Given the description of an element on the screen output the (x, y) to click on. 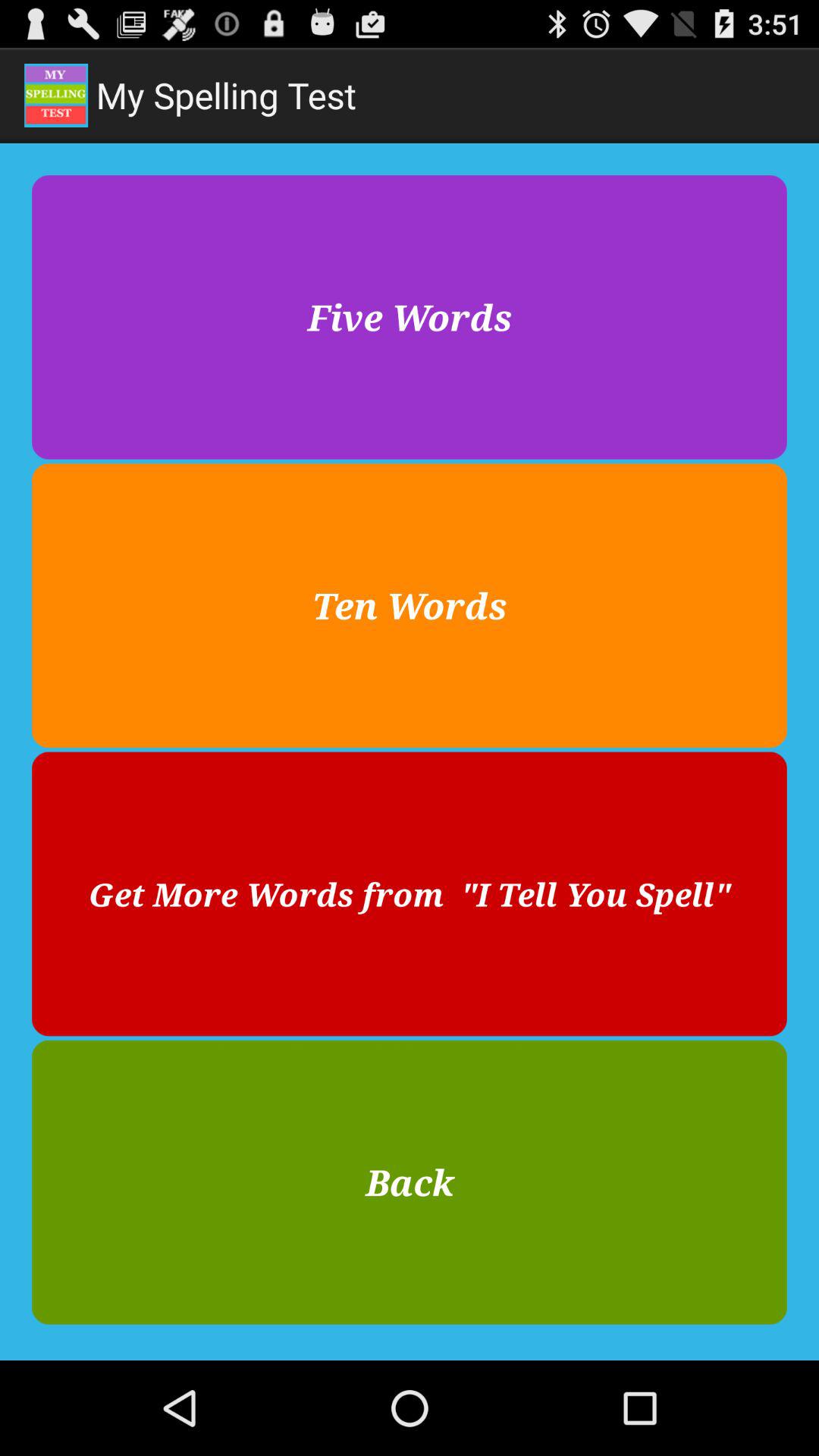
open the icon above ten words button (409, 317)
